Given the description of an element on the screen output the (x, y) to click on. 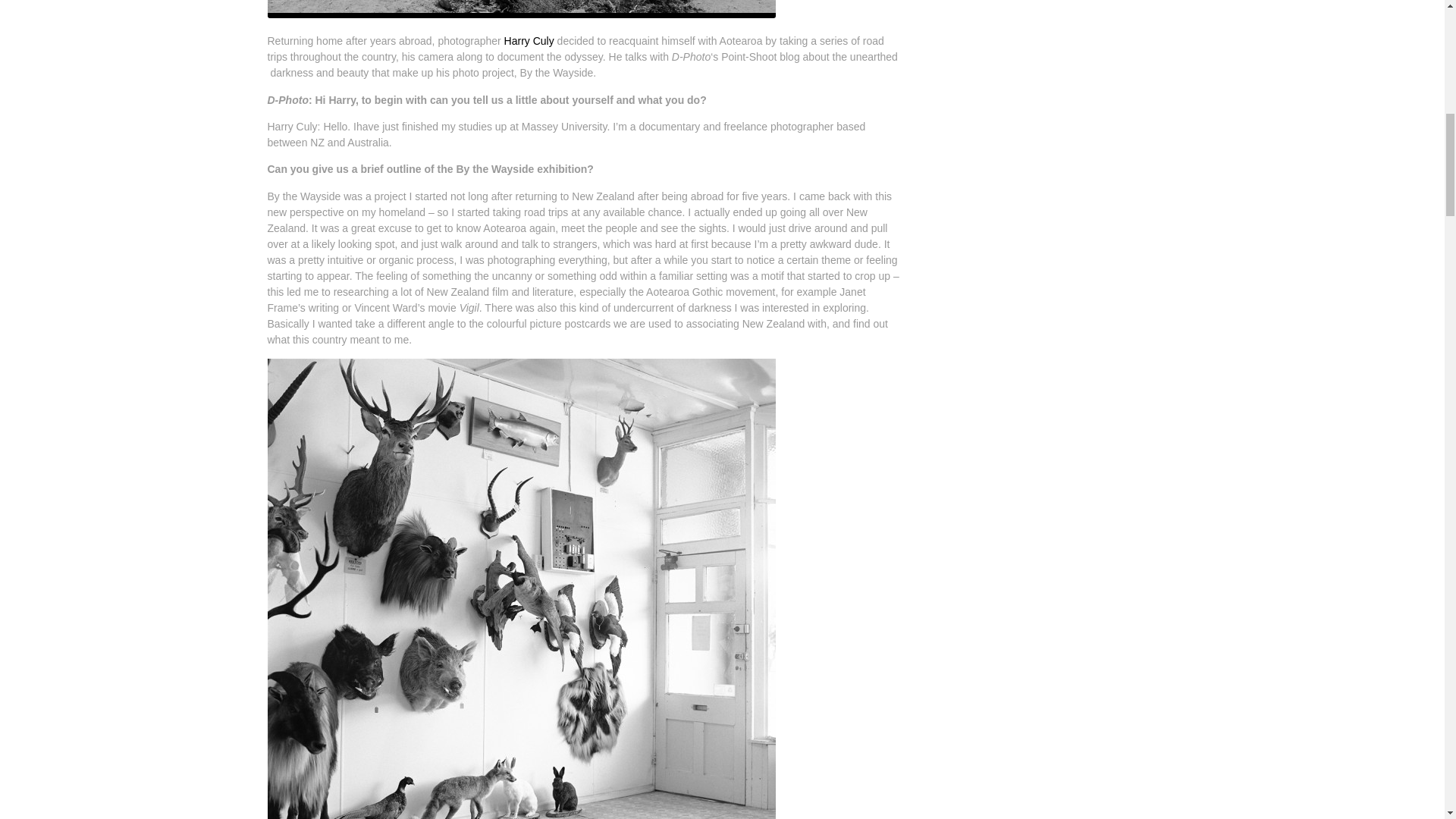
Harry Culy (528, 40)
